Given the description of an element on the screen output the (x, y) to click on. 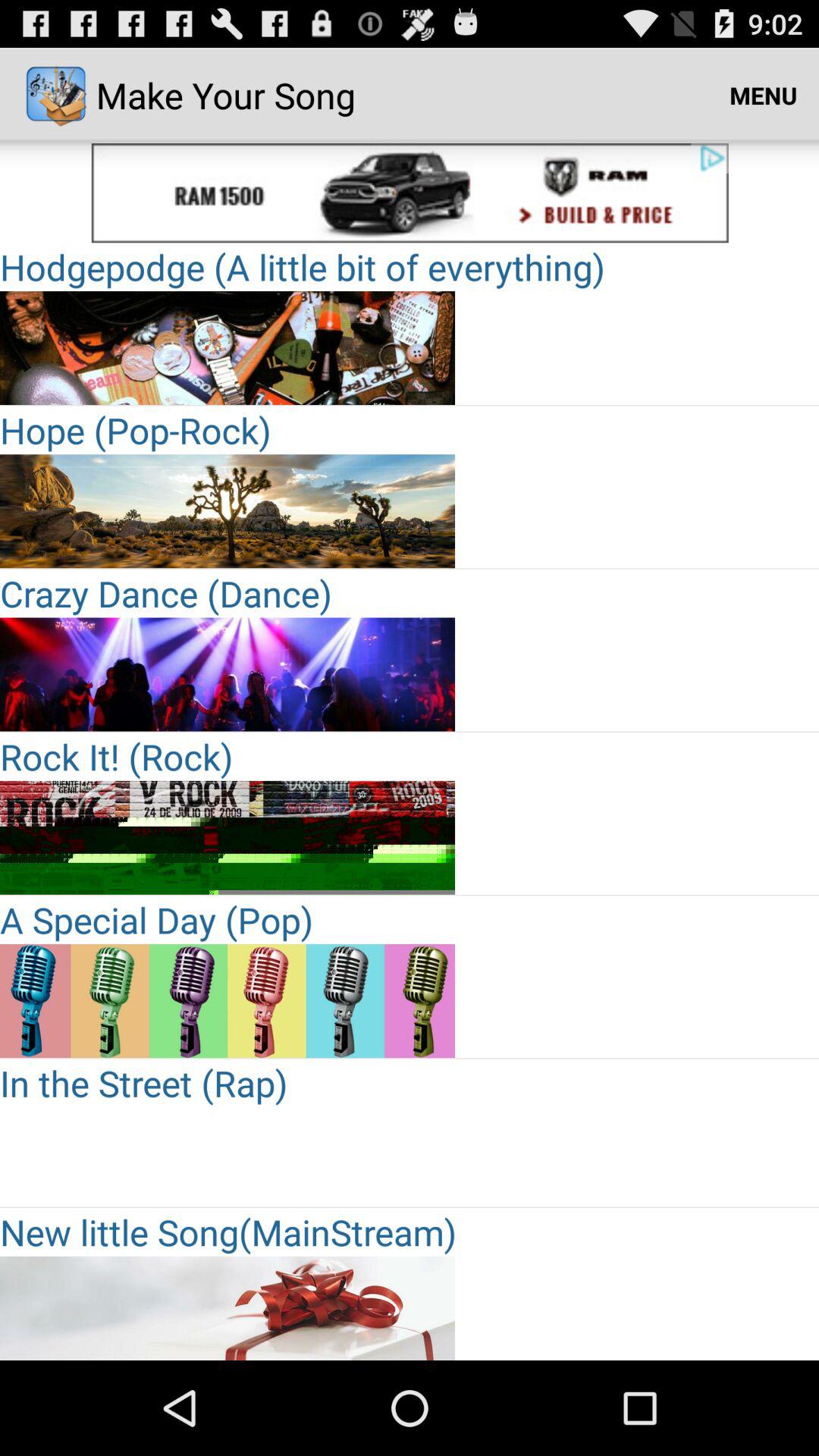
advertisement (227, 192)
